Given the description of an element on the screen output the (x, y) to click on. 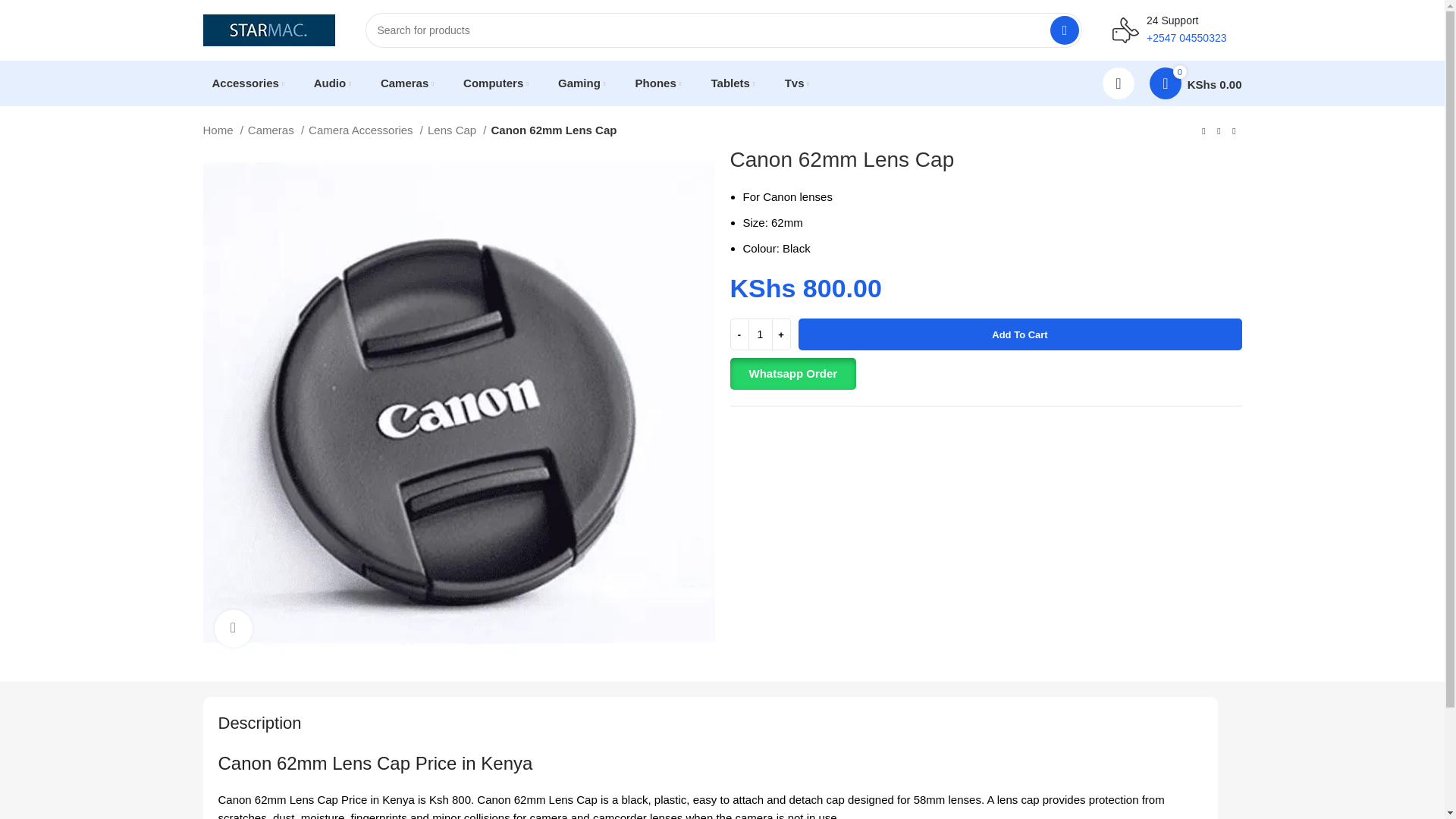
Search (1063, 30)
Audio (331, 82)
support (1125, 29)
Shopping cart (1195, 82)
- (738, 334)
Cameras (406, 82)
My account (1117, 82)
Accessories (248, 82)
1 (760, 334)
Search for products (724, 30)
